Given the description of an element on the screen output the (x, y) to click on. 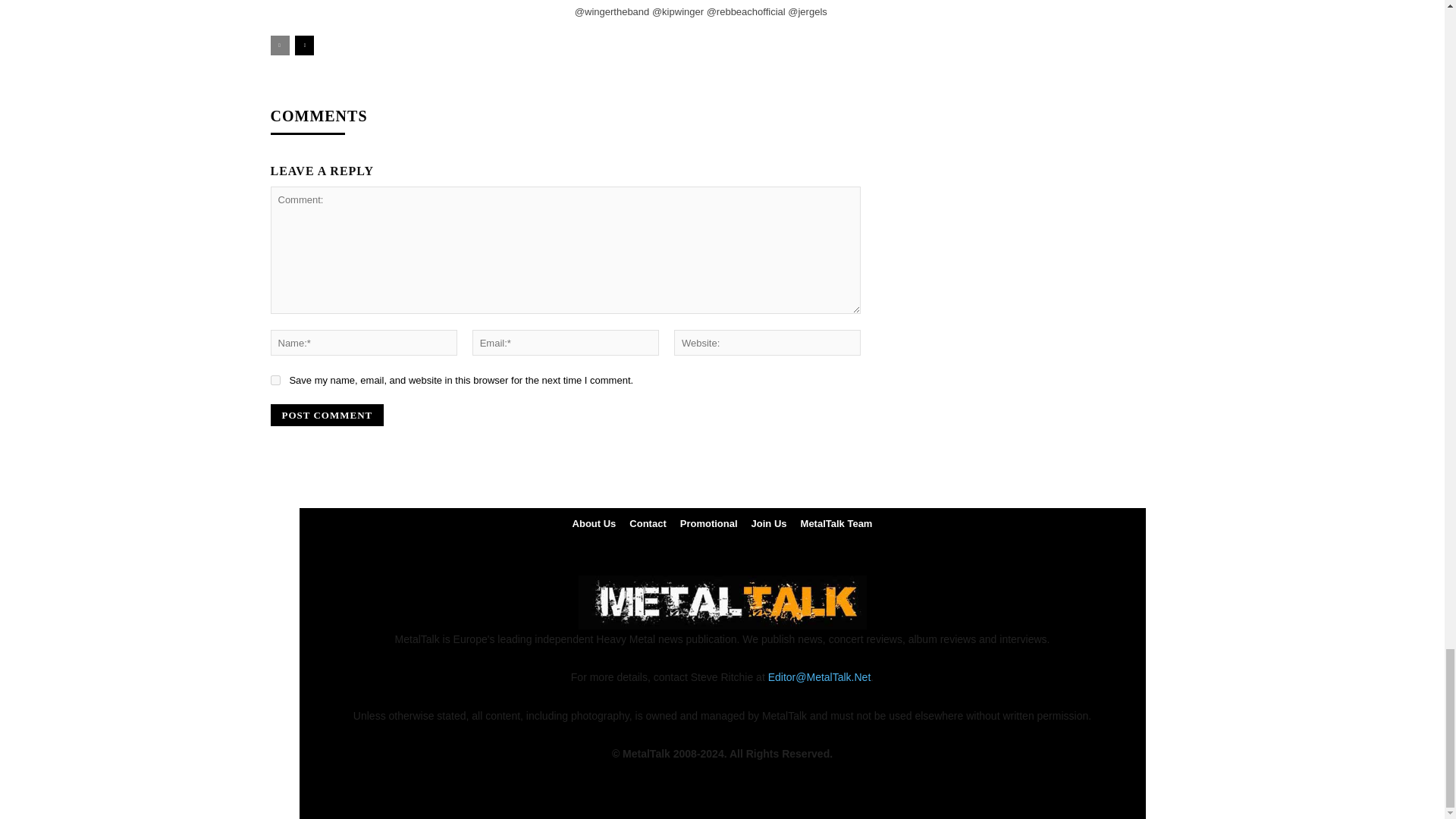
Post Comment (326, 414)
yes (274, 379)
